Given the description of an element on the screen output the (x, y) to click on. 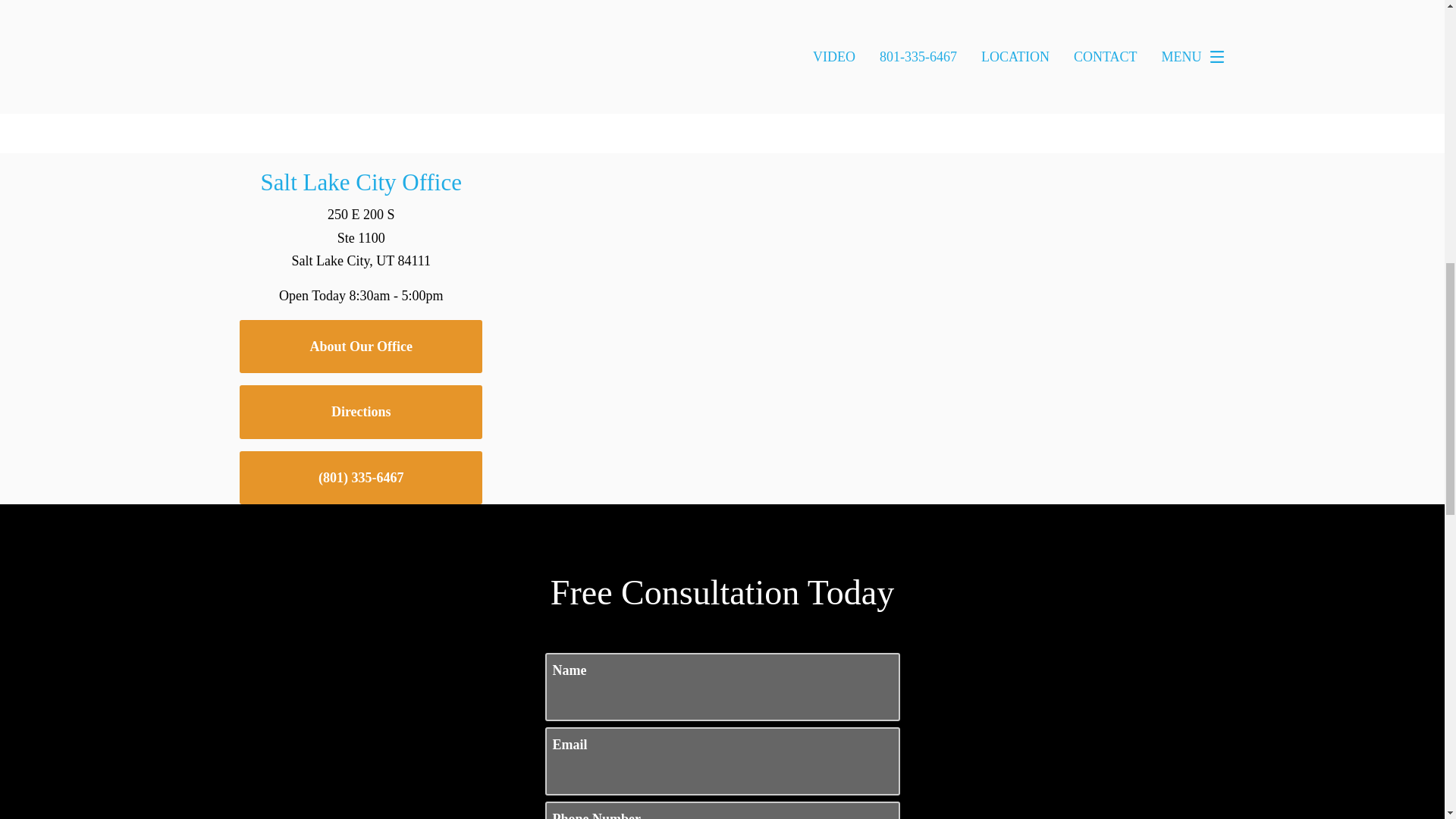
contact us online (747, 73)
Locations (960, 163)
About Our Office (360, 346)
Directions (360, 411)
Salt Lake City Office (360, 181)
